Given the description of an element on the screen output the (x, y) to click on. 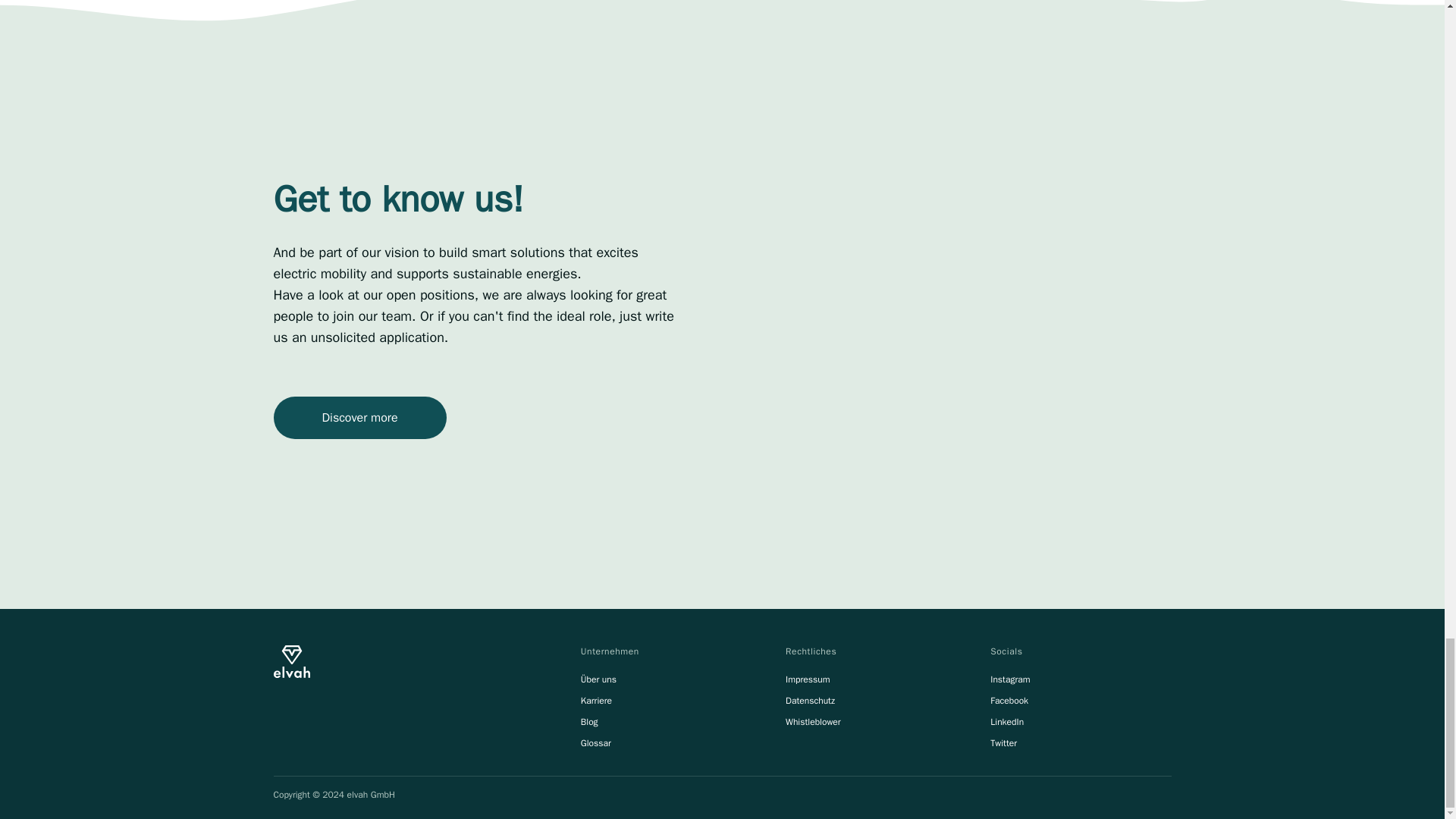
Datenschutz (810, 700)
Karriere (595, 700)
Glossar (595, 743)
Discover more (359, 417)
LinkedIn (1006, 721)
Impressum (807, 679)
Twitter (1003, 743)
Blog (589, 721)
Instagram (1009, 679)
Whistleblower (813, 721)
Facebook (1008, 700)
